Given the description of an element on the screen output the (x, y) to click on. 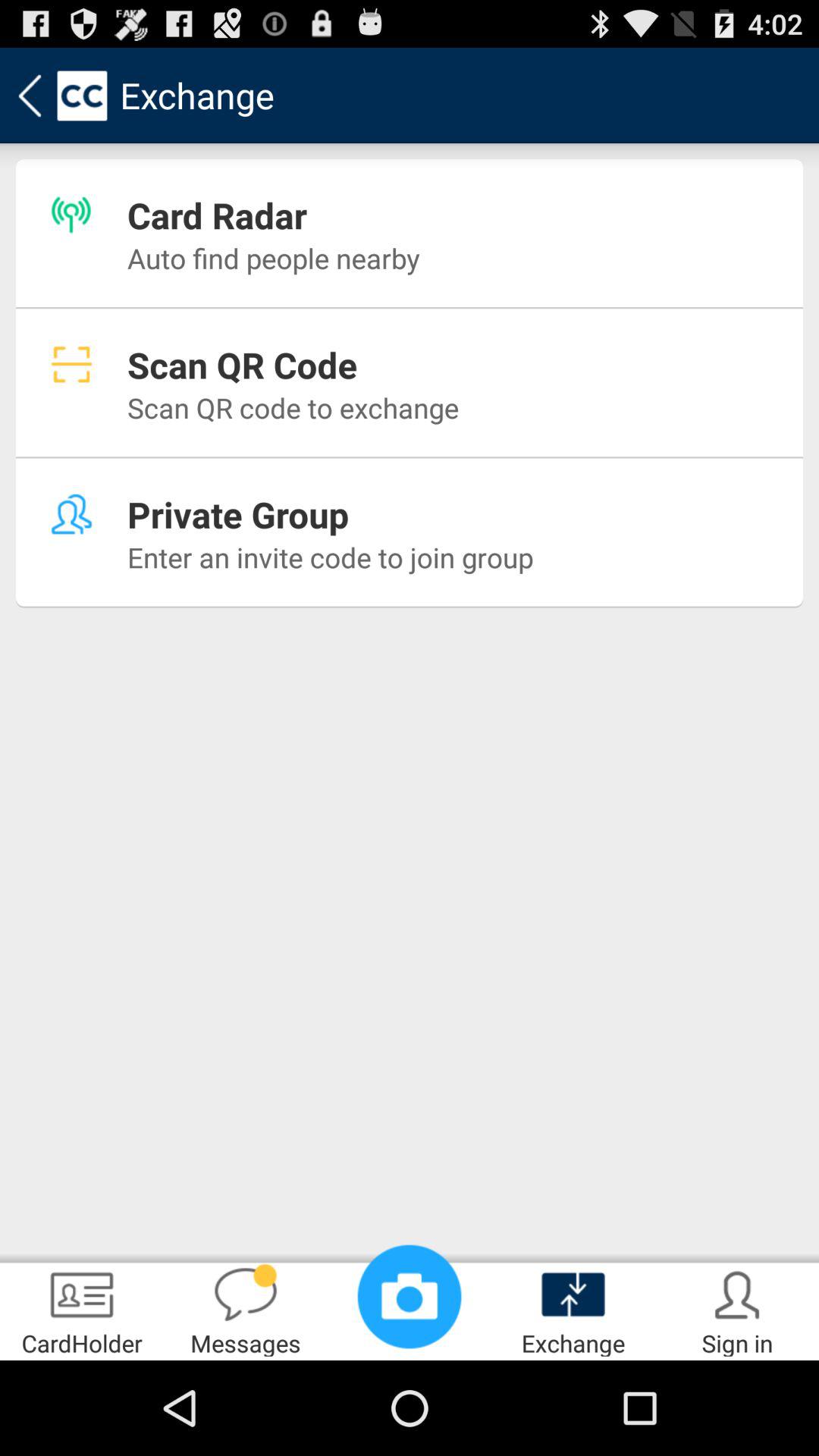
open app to the right of the cardholder app (245, 1309)
